Given the description of an element on the screen output the (x, y) to click on. 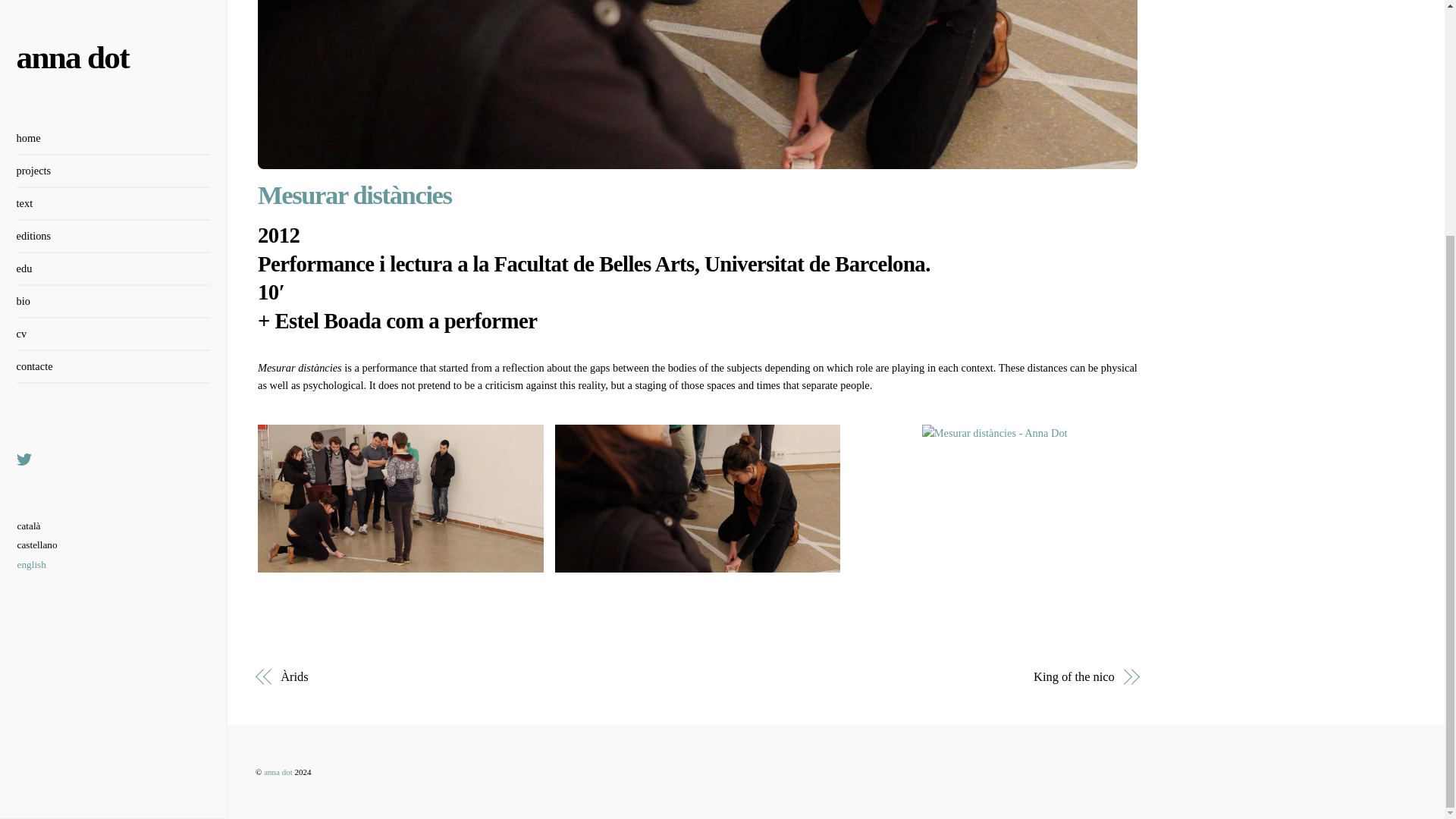
cv (113, 14)
english (37, 243)
King of the nico (919, 677)
anna dot (277, 771)
castellano (37, 223)
contacte (113, 45)
